Given the description of an element on the screen output the (x, y) to click on. 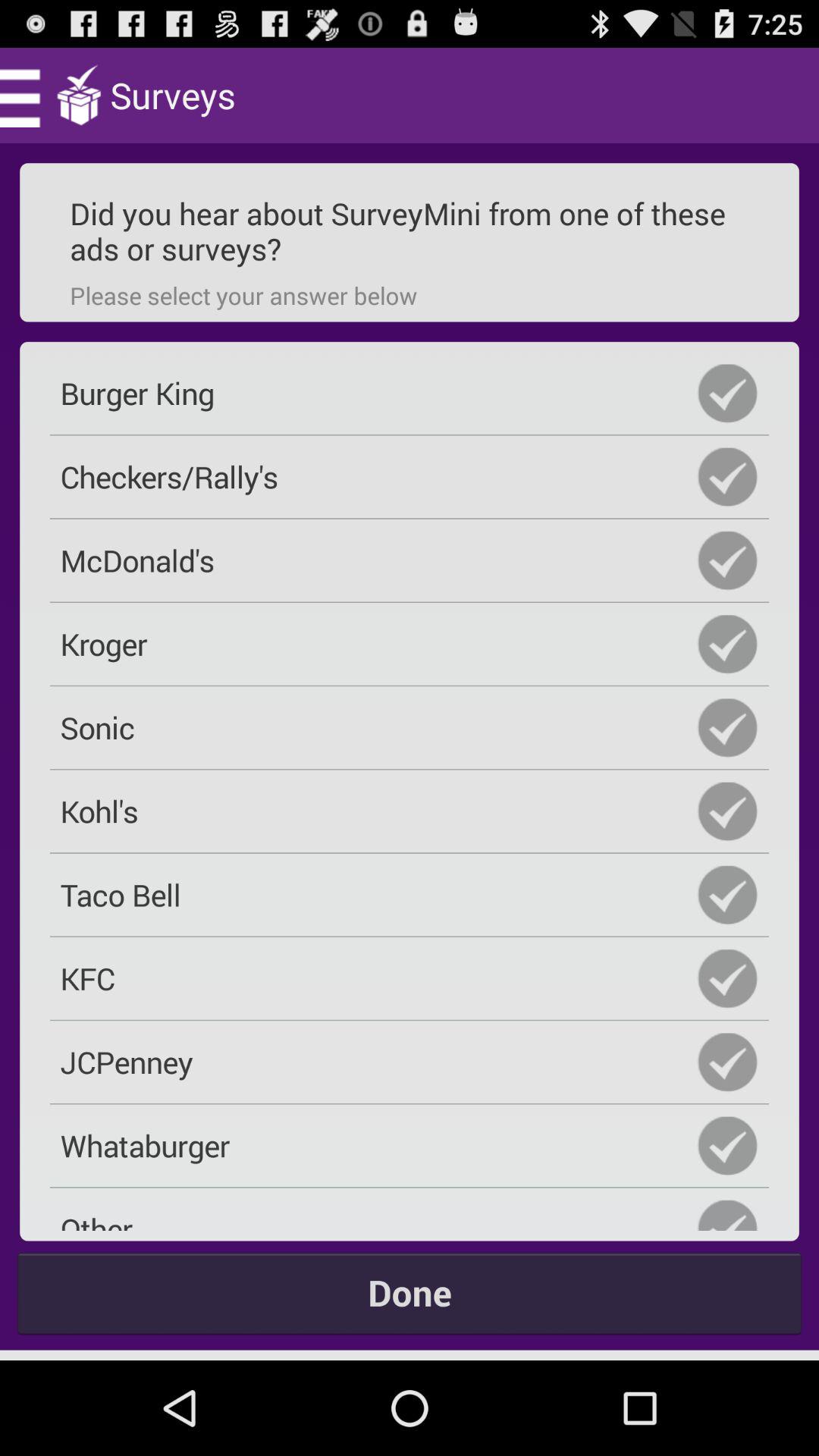
press item below mcdonald's icon (409, 643)
